Given the description of an element on the screen output the (x, y) to click on. 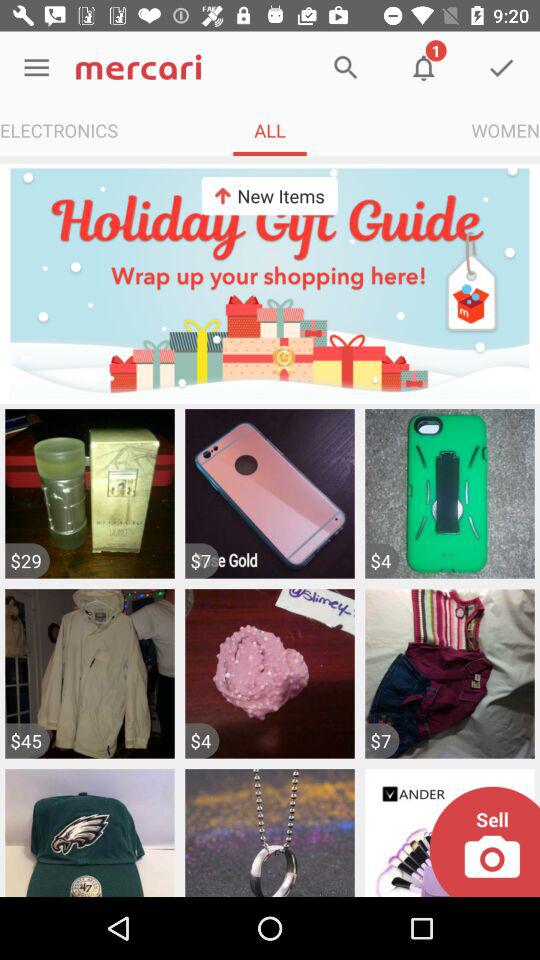
choose the app next to the all (59, 130)
